Given the description of an element on the screen output the (x, y) to click on. 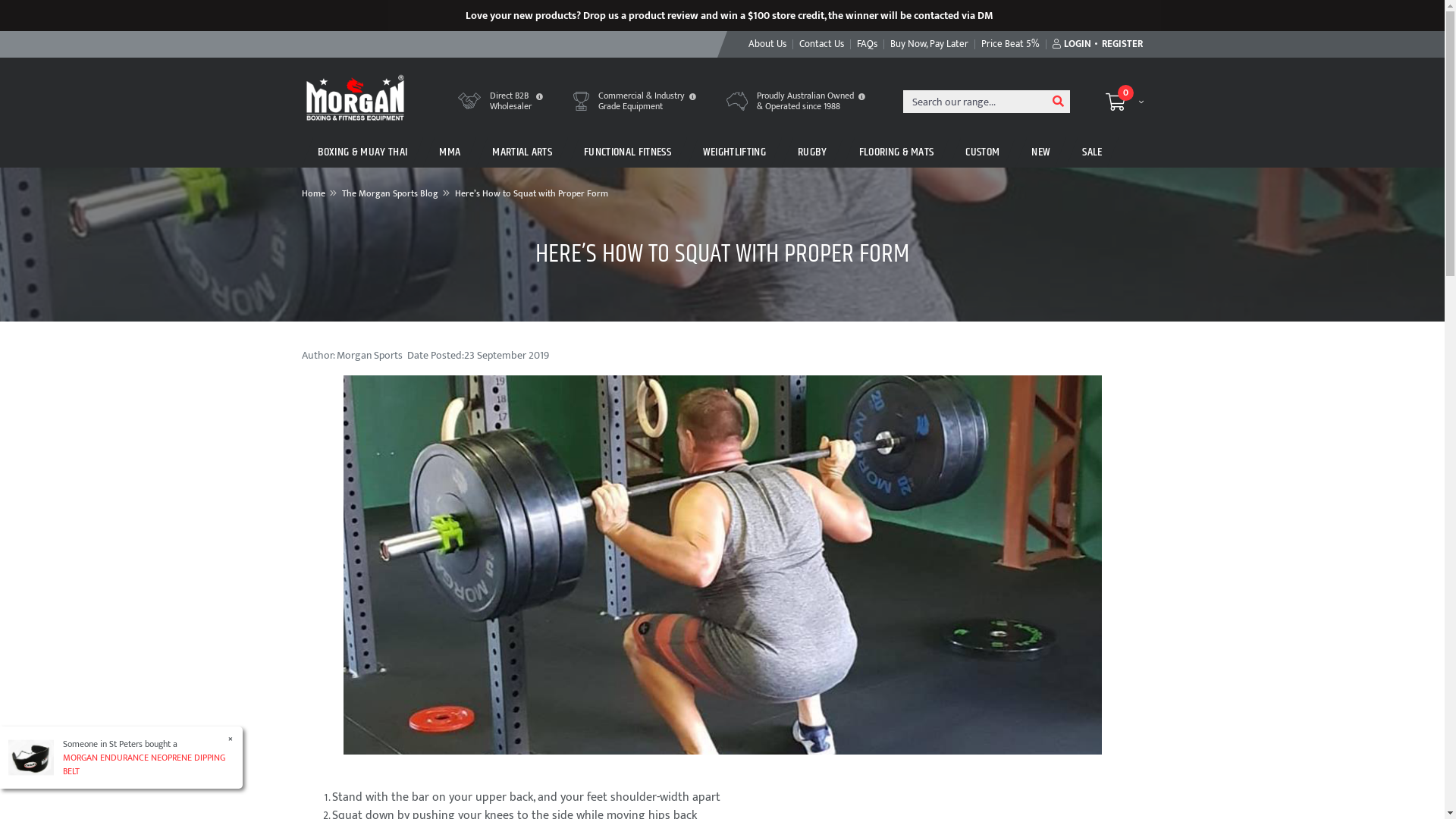
Home Element type: text (313, 192)
LOGIN Element type: text (1070, 44)
MMA Element type: text (449, 152)
REGISTER Element type: text (1118, 44)
Morgan Sports Element type: hover (354, 97)
Search Element type: text (1057, 101)
BOXING & MUAY THAI Element type: text (362, 152)
CUSTOM Element type: text (982, 152)
About Us Element type: text (767, 44)
FUNCTIONAL FITNESS Element type: text (627, 152)
MARTIAL ARTS Element type: text (521, 152)
SALE Element type: text (1091, 152)
WEIGHTLIFTING Element type: text (734, 152)
Contact Us Element type: text (821, 44)
The Morgan Sports Blog Element type: text (389, 192)
FLOORING & MATS Element type: text (896, 152)
Price Beat 5% Element type: text (1009, 44)
Buy Now, Pay Later Element type: text (928, 44)
0 Element type: text (1124, 101)
FAQs Element type: text (866, 44)
RUGBY Element type: text (812, 152)
NEW Element type: text (1040, 152)
